Given the description of an element on the screen output the (x, y) to click on. 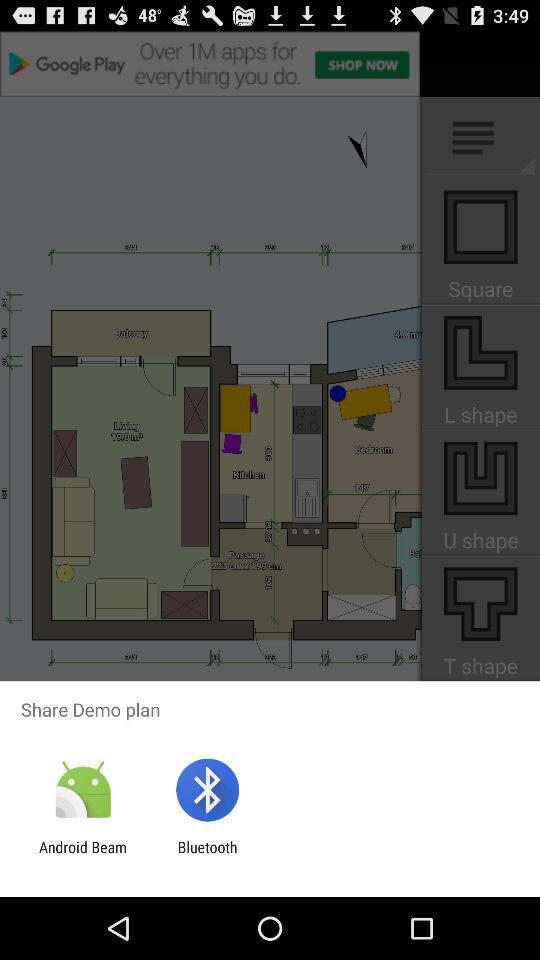
turn off app next to bluetooth icon (83, 856)
